Given the description of an element on the screen output the (x, y) to click on. 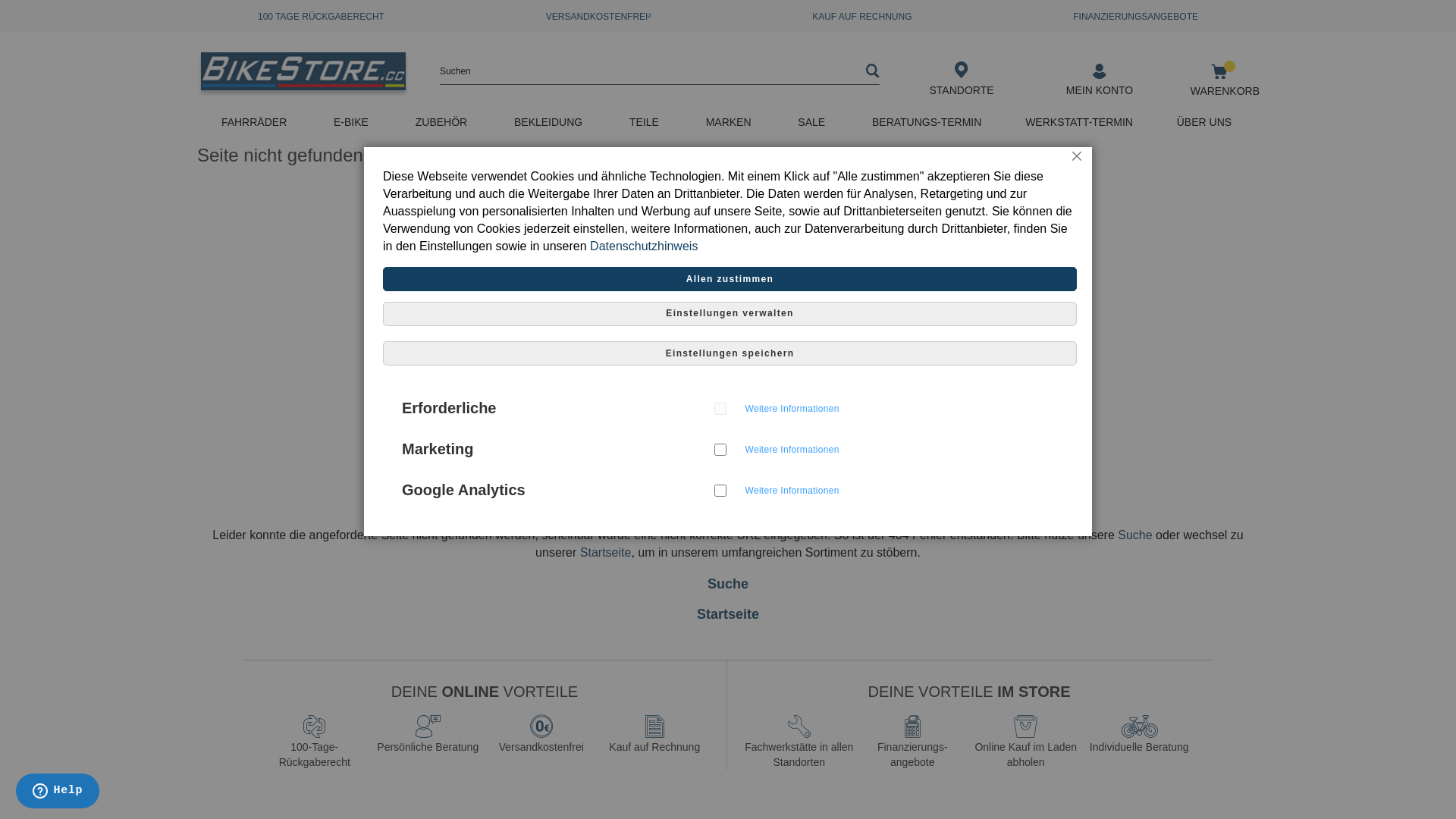
FINANZIERUNGSANGEBOTE Element type: text (1135, 16)
Suche Element type: text (1134, 534)
Startseite Element type: text (605, 552)
Weitere Informationen Element type: text (791, 405)
Suche Element type: text (727, 583)
BEKLEIDUNG Element type: text (549, 123)
E-BIKE Element type: text (352, 123)
Einstellungen verwalten Element type: text (729, 313)
STANDORTE Element type: text (960, 90)
WERKSTATT-TERMIN Element type: text (1078, 123)
Opens a widget where you can chat to one of our agents Element type: hover (57, 792)
SALE Element type: text (812, 123)
TEILE Element type: text (645, 123)
BERATUNGS-TERMIN Element type: text (926, 123)
MARKEN Element type: text (730, 123)
Online Kauf im Laden abholen Element type: text (1025, 742)
Individuelle Beratung Element type: text (1139, 734)
MEIN KONTO Element type: text (1099, 90)
Datenschutzhinweis Element type: text (643, 245)
Einstellungen speichern Element type: text (729, 353)
SEARCH Element type: text (872, 70)
Weitere Informationen Element type: text (791, 446)
Kauf auf Rechnung Element type: text (654, 734)
Startseite Element type: text (727, 613)
WARENKORB Element type: text (1224, 90)
Weitere Informationen Element type: text (791, 487)
Allen zustimmen Element type: text (729, 278)
KAUF AUF RECHNUNG Element type: text (861, 16)
SCHLIESSEN Element type: text (1076, 161)
